Given the description of an element on the screen output the (x, y) to click on. 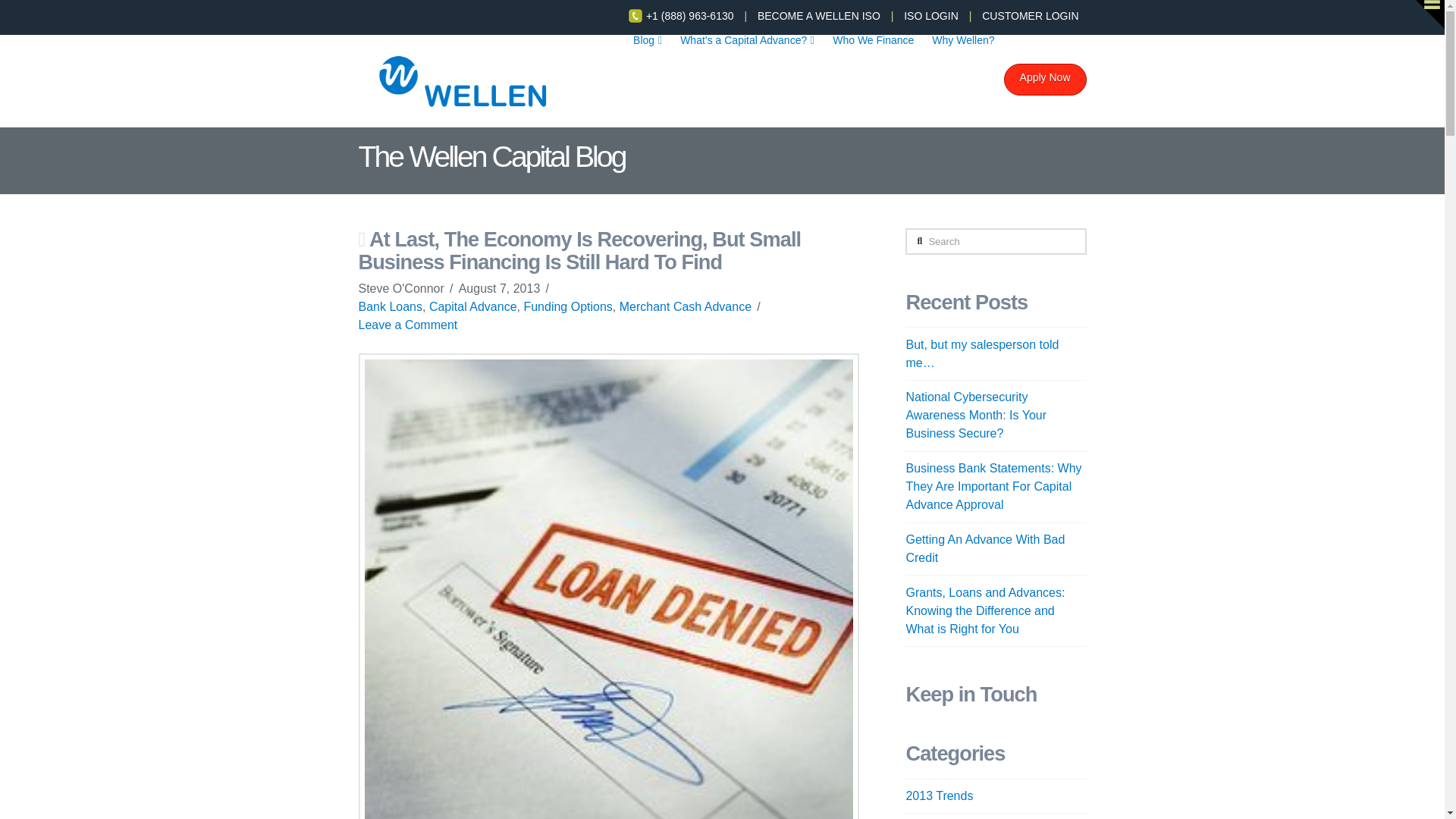
CUSTOMER LOGIN (1029, 15)
Who We Finance (873, 76)
Why Wellen? (963, 76)
BECOME A WELLEN ISO (818, 15)
ISO LOGIN (931, 15)
